Given the description of an element on the screen output the (x, y) to click on. 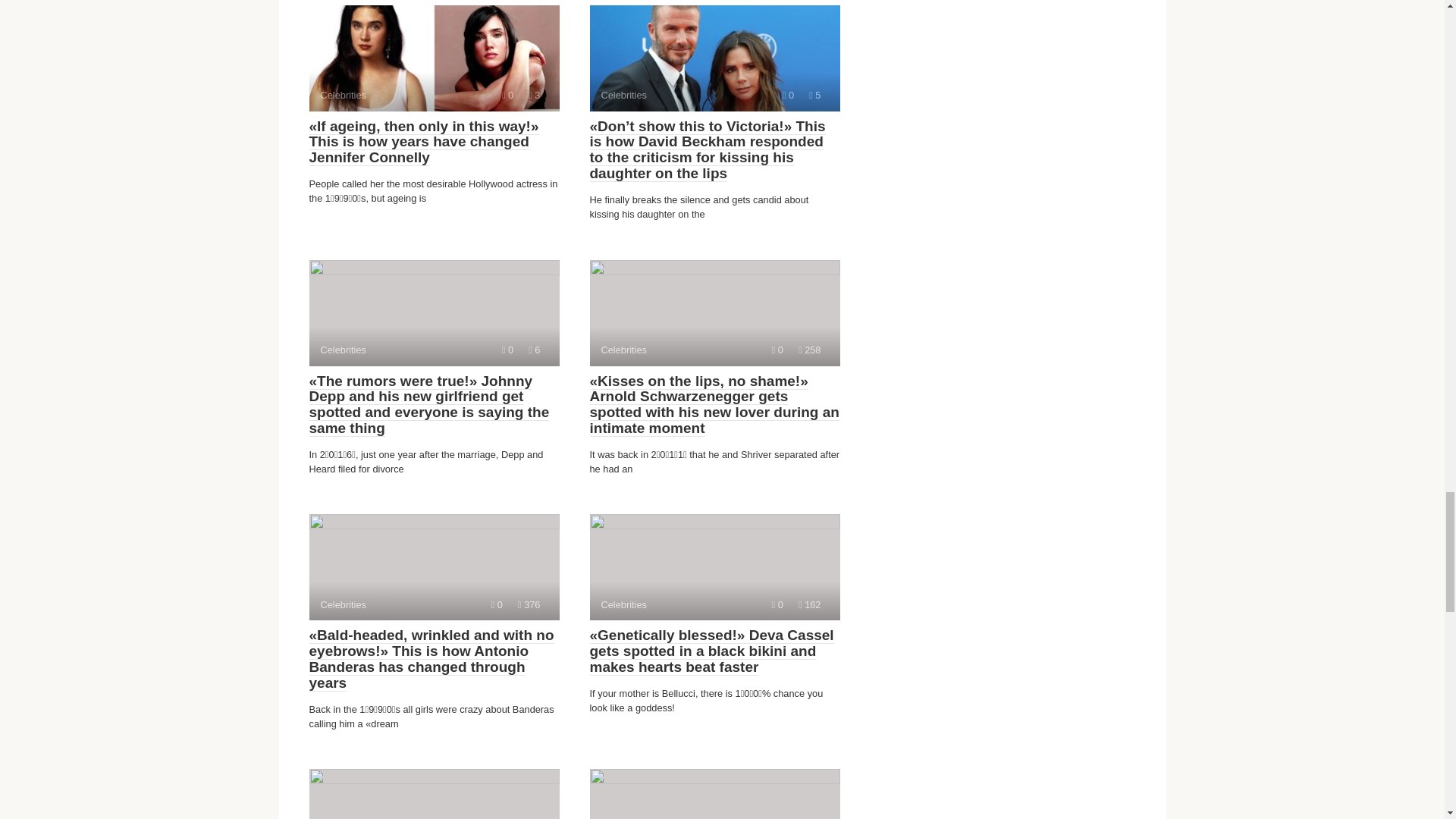
Comments (714, 57)
Views (714, 566)
Views (507, 94)
Comments (714, 794)
Comments (815, 94)
Comments (714, 312)
Comments (534, 94)
Views (497, 604)
